Given the description of an element on the screen output the (x, y) to click on. 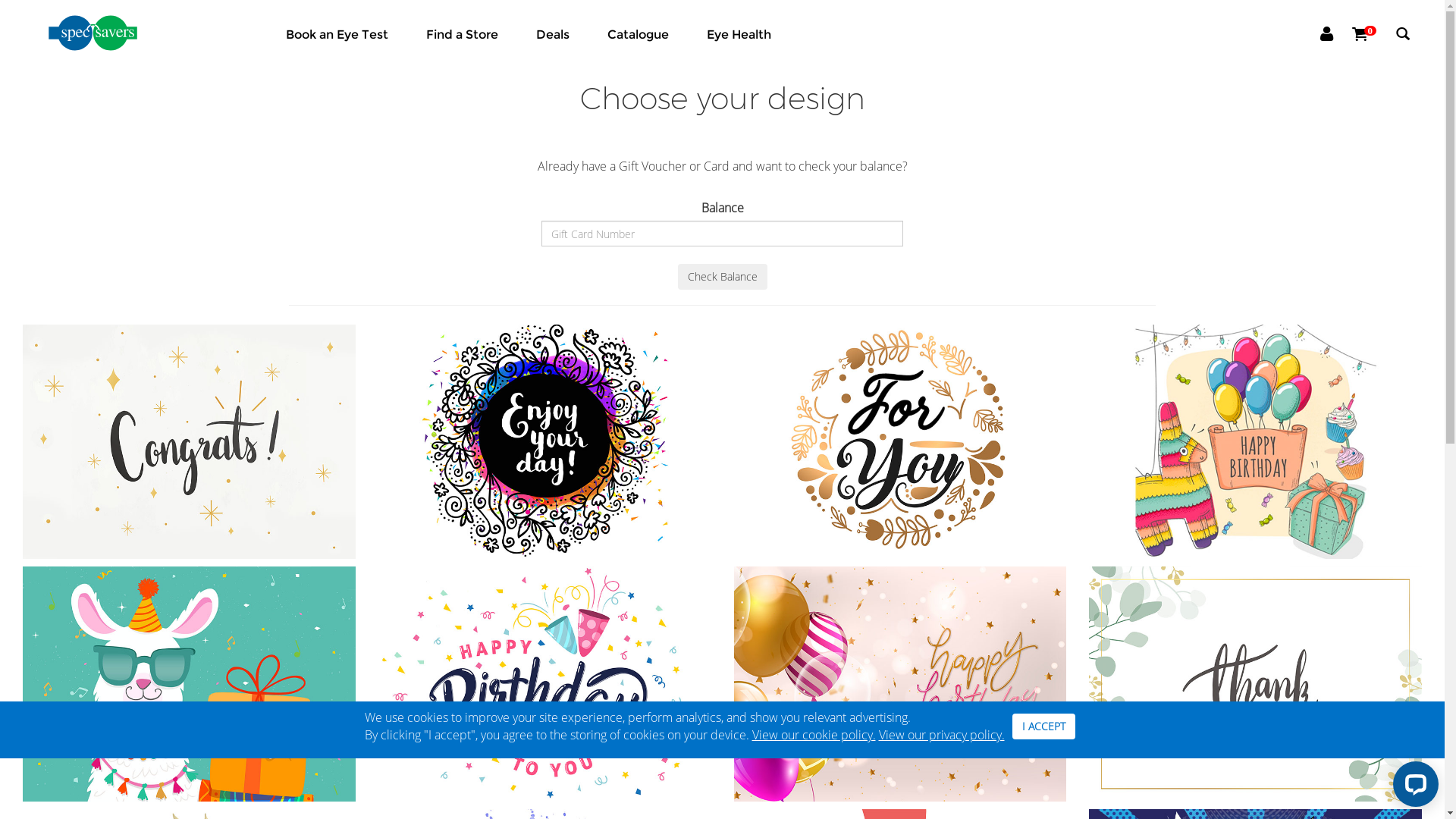
Deals Element type: text (552, 34)
View our privacy policy. Element type: text (941, 734)
Check Balance Element type: text (722, 276)
Catalogue Element type: text (637, 34)
View our cookie policy. Element type: text (813, 734)
Find a Store Element type: text (462, 34)
Book an Eye Test Element type: text (336, 34)
0 Element type: text (1371, 34)
Eye Health Element type: text (738, 34)
Spec-Savers South Africa Element type: hover (110, 32)
I ACCEPT Element type: text (1042, 726)
